Given the description of an element on the screen output the (x, y) to click on. 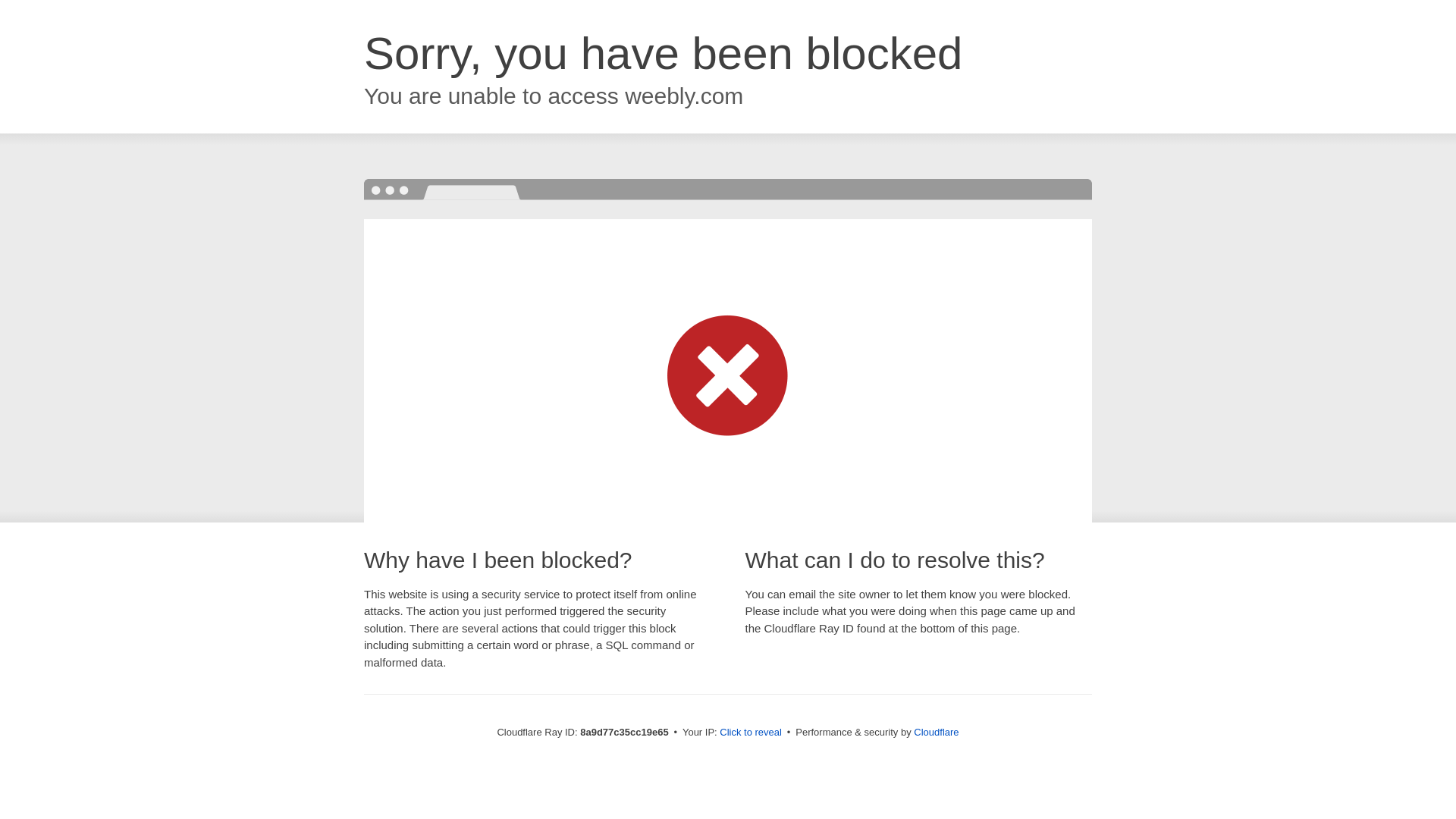
Cloudflare (936, 731)
Click to reveal (750, 732)
